Given the description of an element on the screen output the (x, y) to click on. 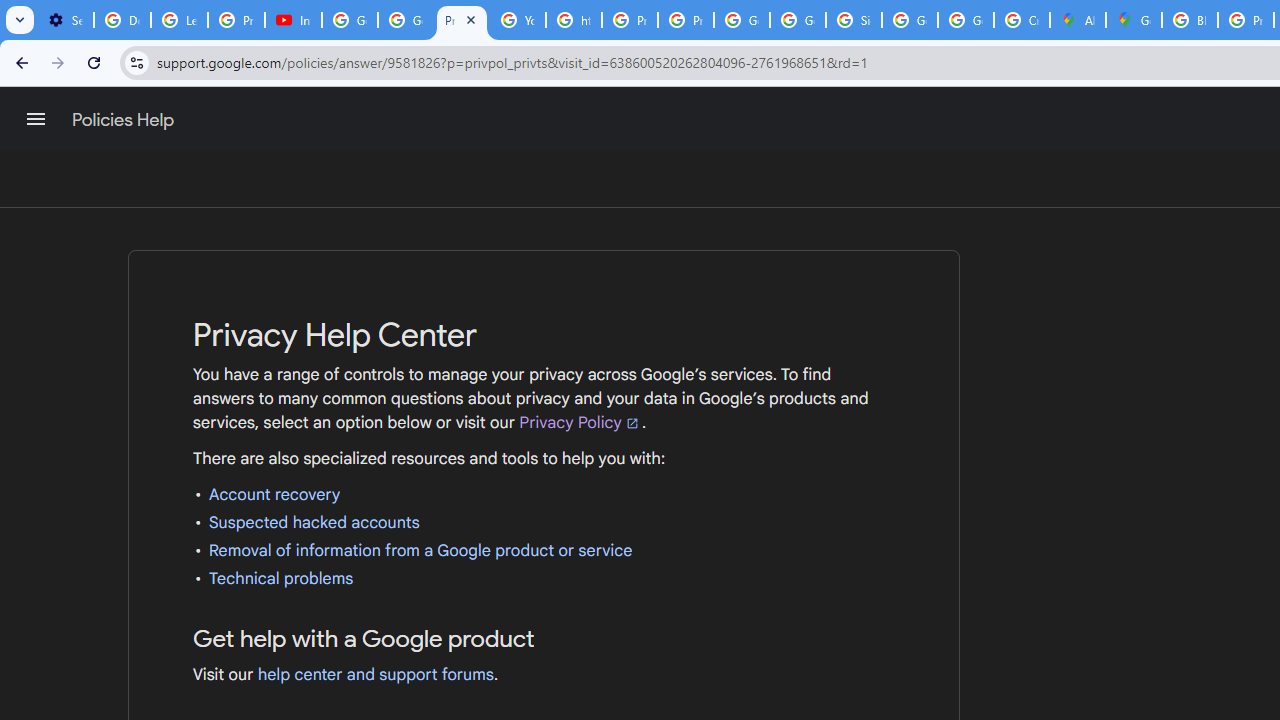
Privacy Help Center - Policies Help (461, 20)
Blogger Policies and Guidelines - Transparency Center (1190, 20)
Introduction | Google Privacy Policy - YouTube (293, 20)
https://scholar.google.com/ (573, 20)
Create your Google Account (1021, 20)
Suspected hacked accounts (313, 522)
Account recovery (274, 494)
